Given the description of an element on the screen output the (x, y) to click on. 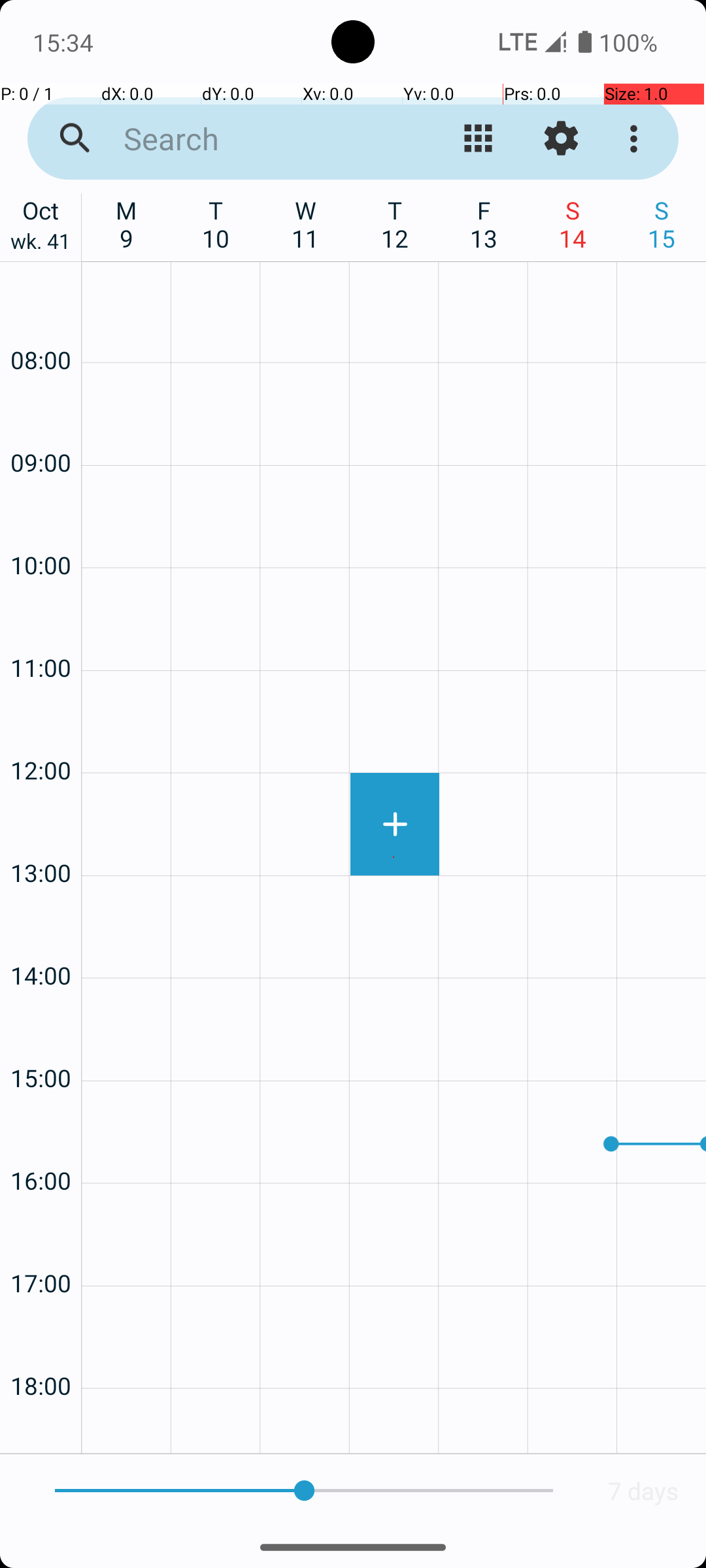
wk. 41 Element type: android.widget.TextView (40, 243)
M
9 Element type: android.widget.TextView (126, 223)
T
10 Element type: android.widget.TextView (215, 223)
W
11 Element type: android.widget.TextView (305, 223)
T
12 Element type: android.widget.TextView (394, 223)
F
13 Element type: android.widget.TextView (483, 223)
S
14 Element type: android.widget.TextView (572, 223)
